Given the description of an element on the screen output the (x, y) to click on. 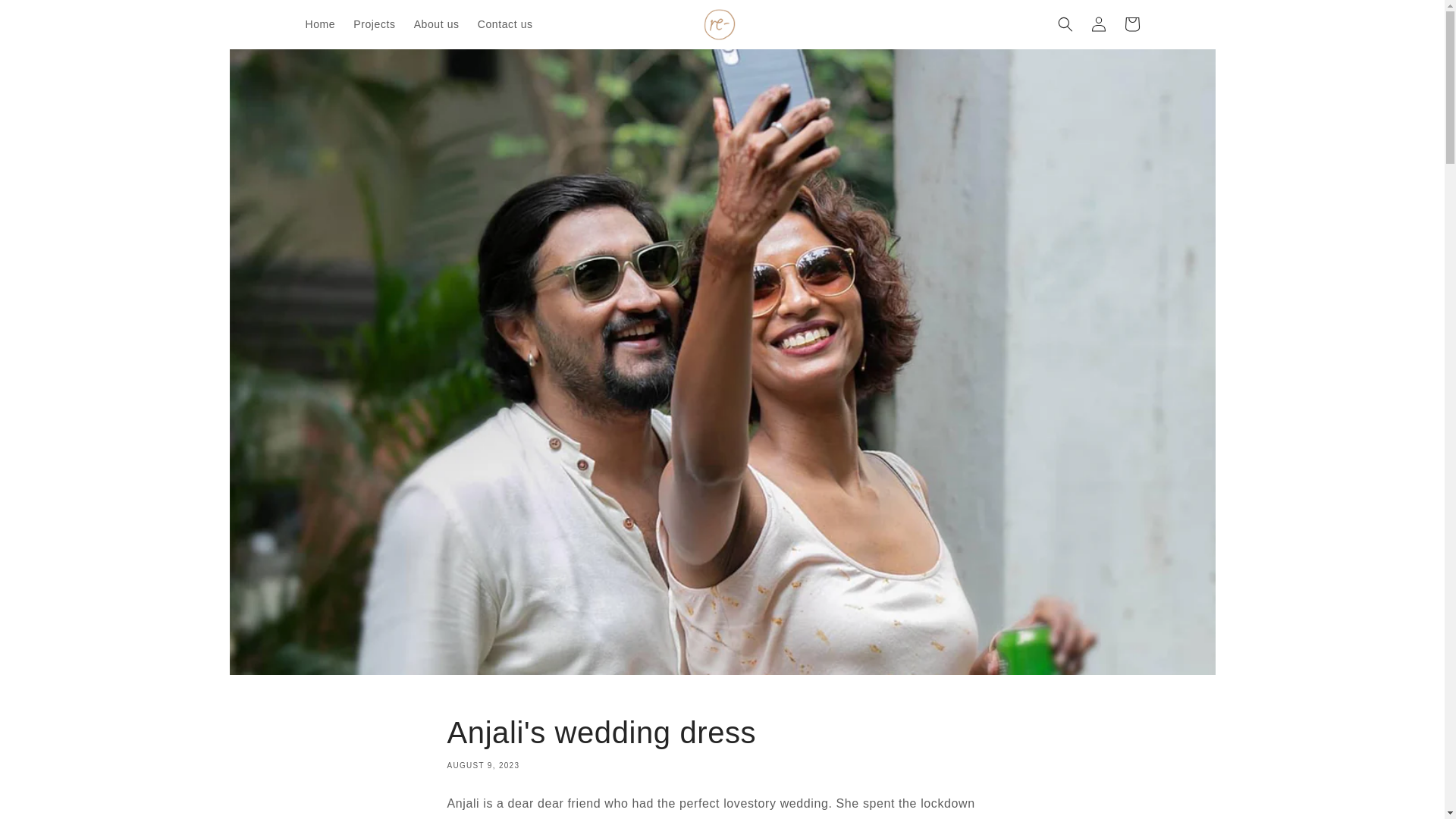
Skip to content (45, 17)
Projects (373, 24)
About us (436, 24)
Home (319, 24)
Log in (1098, 23)
Contact us (504, 24)
Cart (1131, 23)
